Given the description of an element on the screen output the (x, y) to click on. 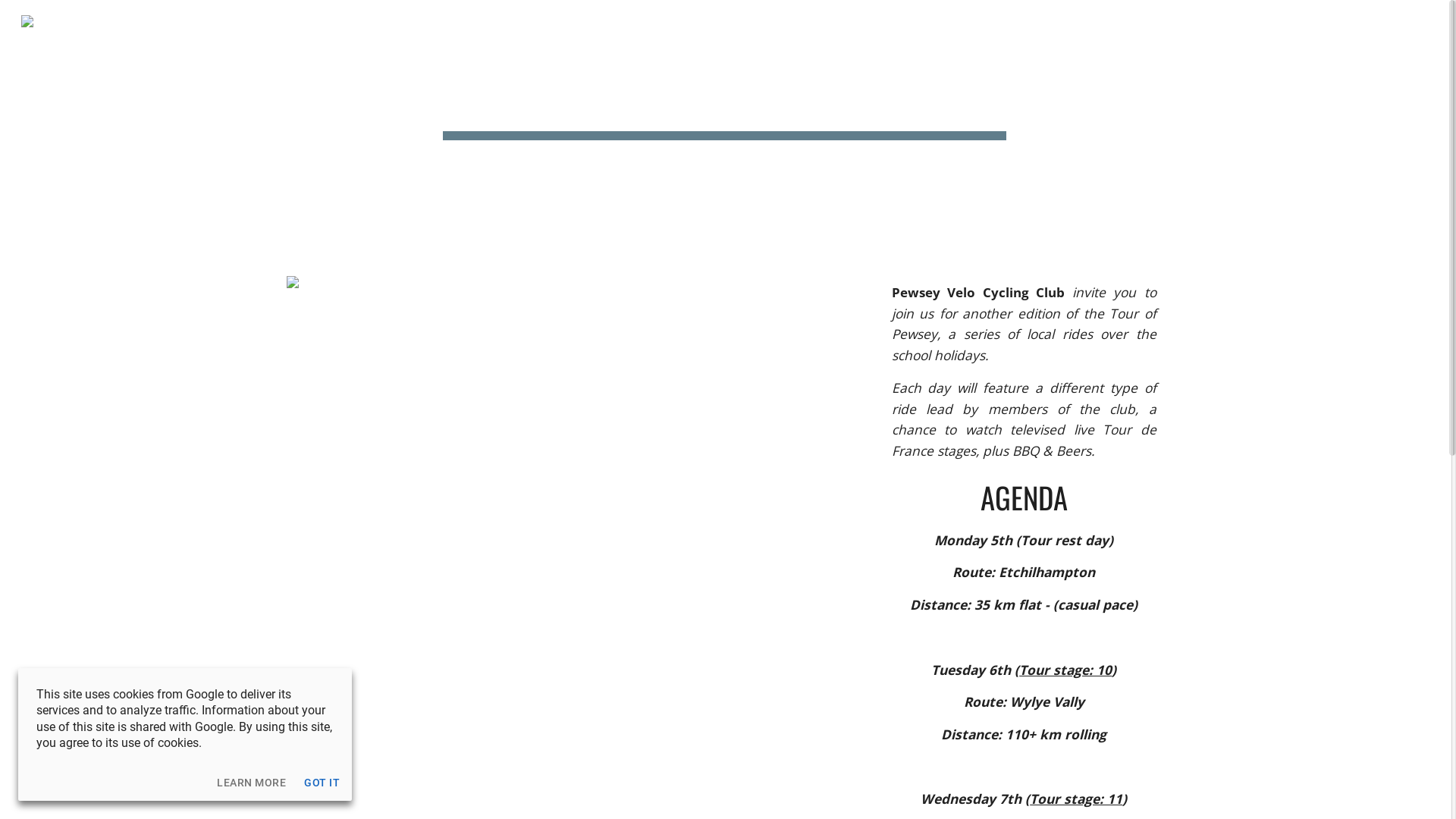
Expand/Collapse Element type: hover (1285, 20)
Expand/Collapse Element type: hover (922, 20)
Gallery Element type: text (1047, 20)
LEARN MORE Element type: text (250, 781)
Tour stage: 10 Element type: text (1065, 669)
Home Element type: text (828, 20)
Membership Element type: text (1145, 20)
Tour stage: 11 Element type: text (1075, 798)
Cycling Services Element type: text (1355, 20)
Expand/Collapse Element type: hover (1084, 20)
Contact Element type: text (1246, 20)
About Element type: text (888, 20)
Expand/Collapse Element type: hover (1002, 20)
Events Element type: text (966, 20)
Expand/Collapse Element type: hover (1198, 20)
